Given the description of an element on the screen output the (x, y) to click on. 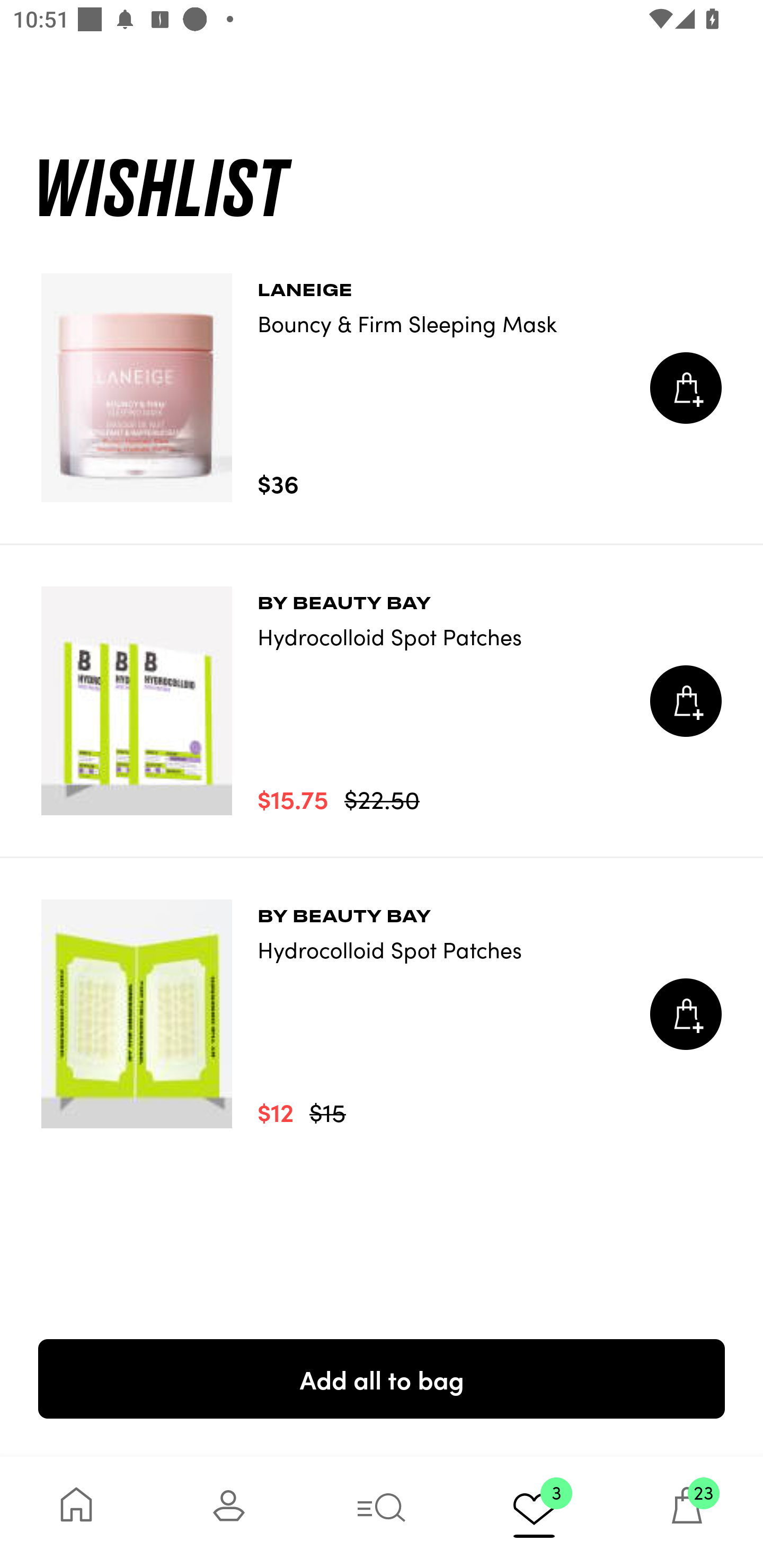
LANEIGE Bouncy & Firm Sleeping Mask $36 (381, 388)
BY BEAUTY BAY Hydrocolloid Spot Patches $12 $15 (381, 1013)
Add all to bag (381, 1379)
3 (533, 1512)
23 (686, 1512)
